Given the description of an element on the screen output the (x, y) to click on. 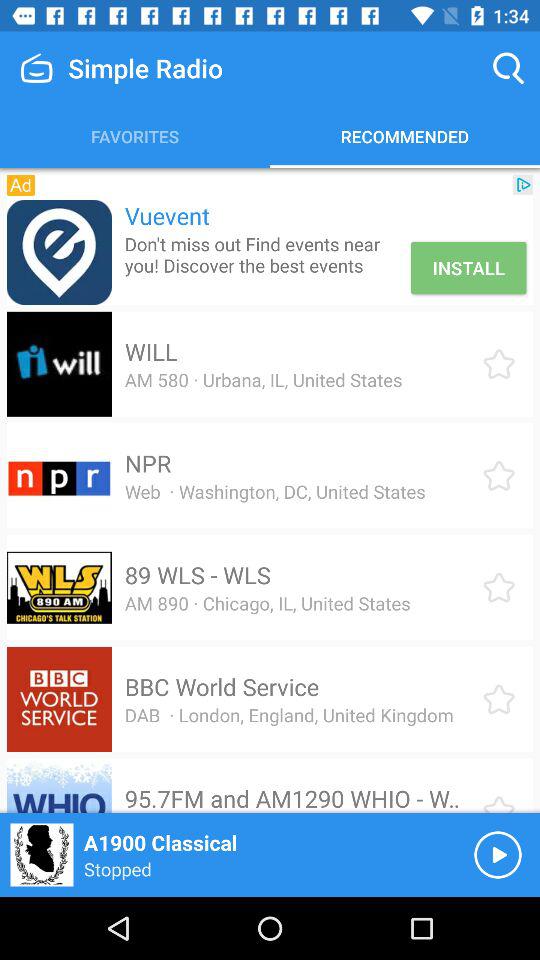
flip to the am 580 urbana item (263, 379)
